Given the description of an element on the screen output the (x, y) to click on. 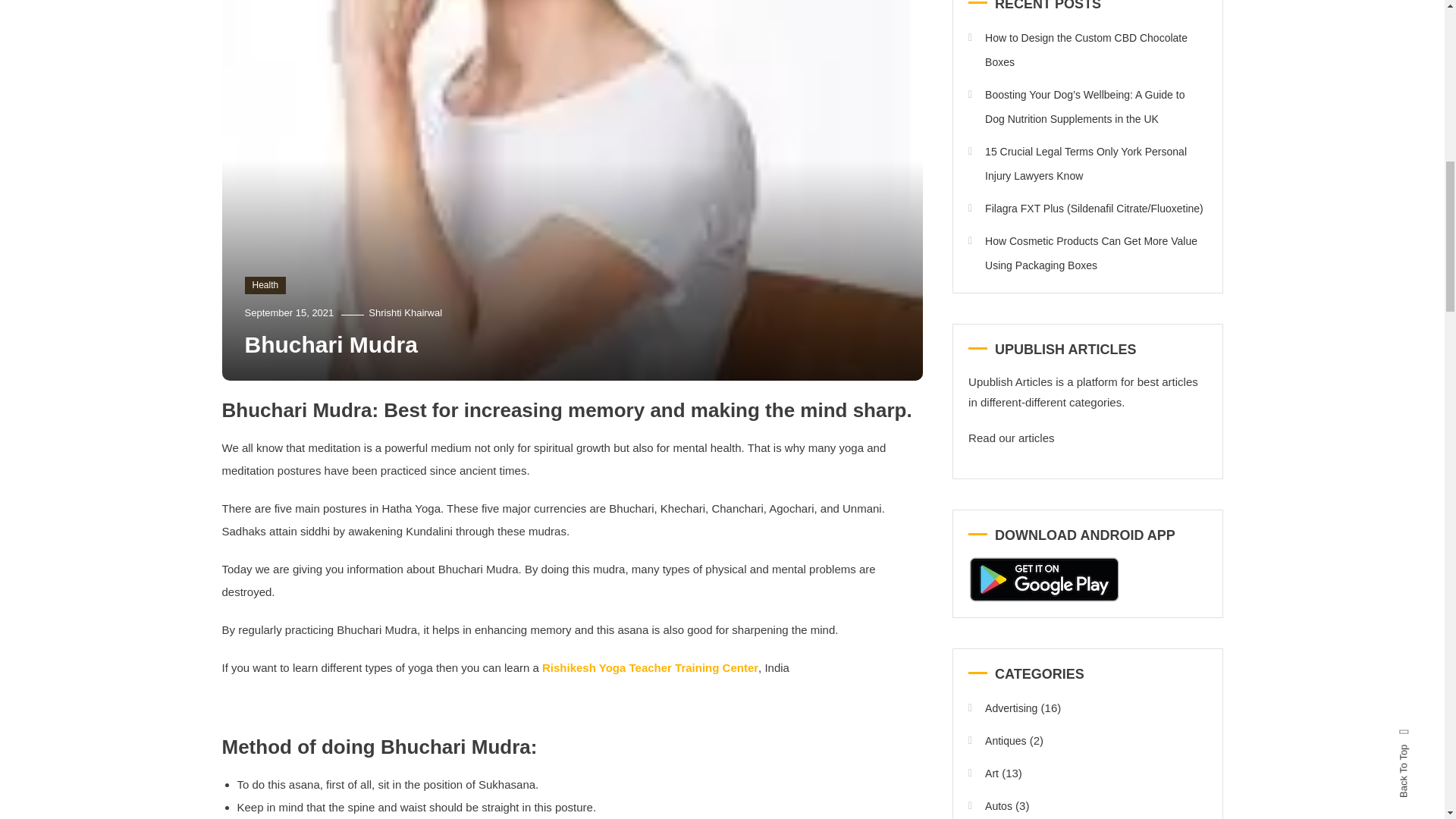
Bhuchari Mudra (330, 344)
Rishikesh Yoga Teacher Training Center (649, 667)
Health (264, 285)
September 15, 2021 (288, 312)
Shrishti Khairwal (405, 312)
